Given the description of an element on the screen output the (x, y) to click on. 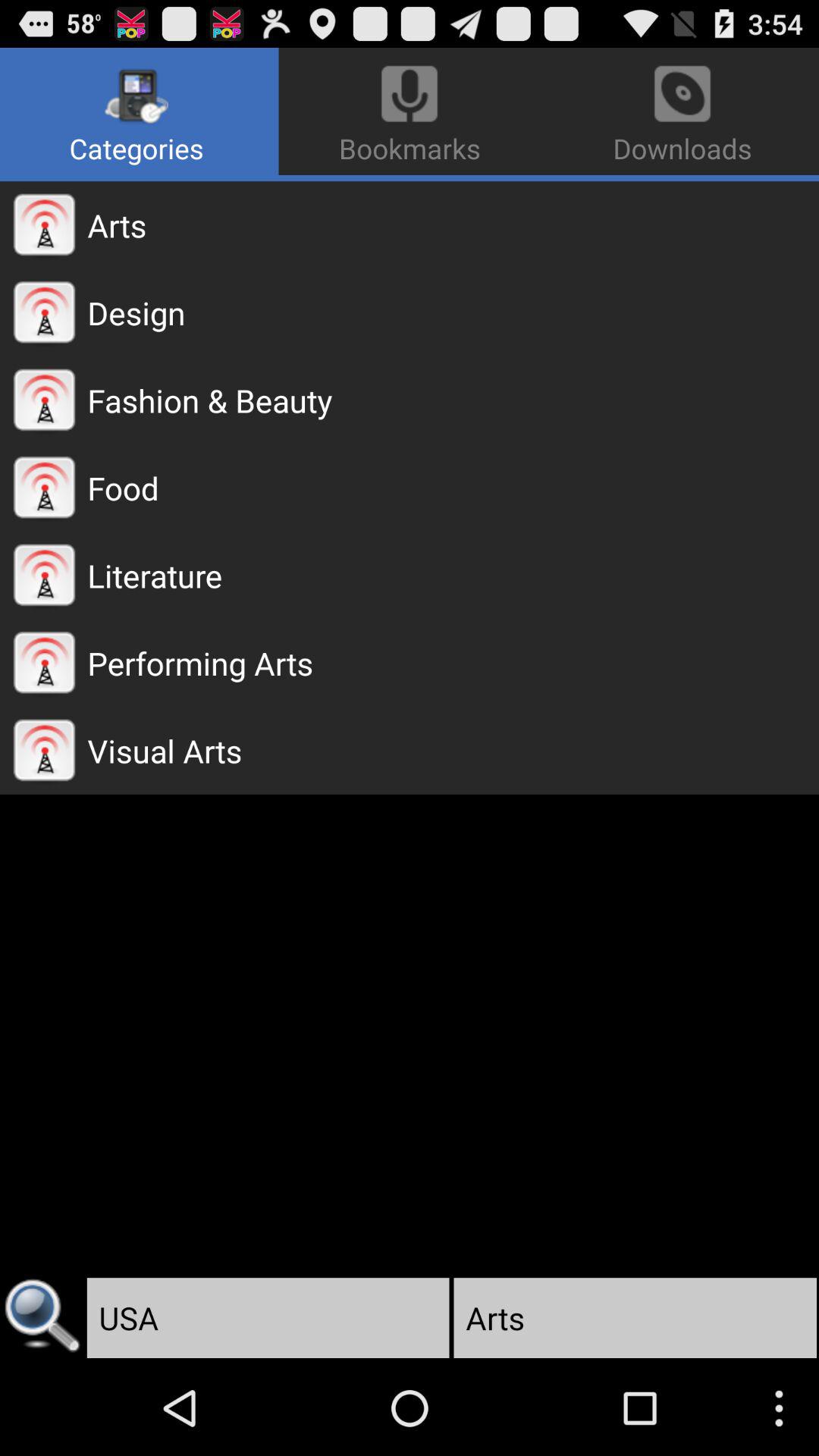
launch performing arts item (453, 662)
